Given the description of an element on the screen output the (x, y) to click on. 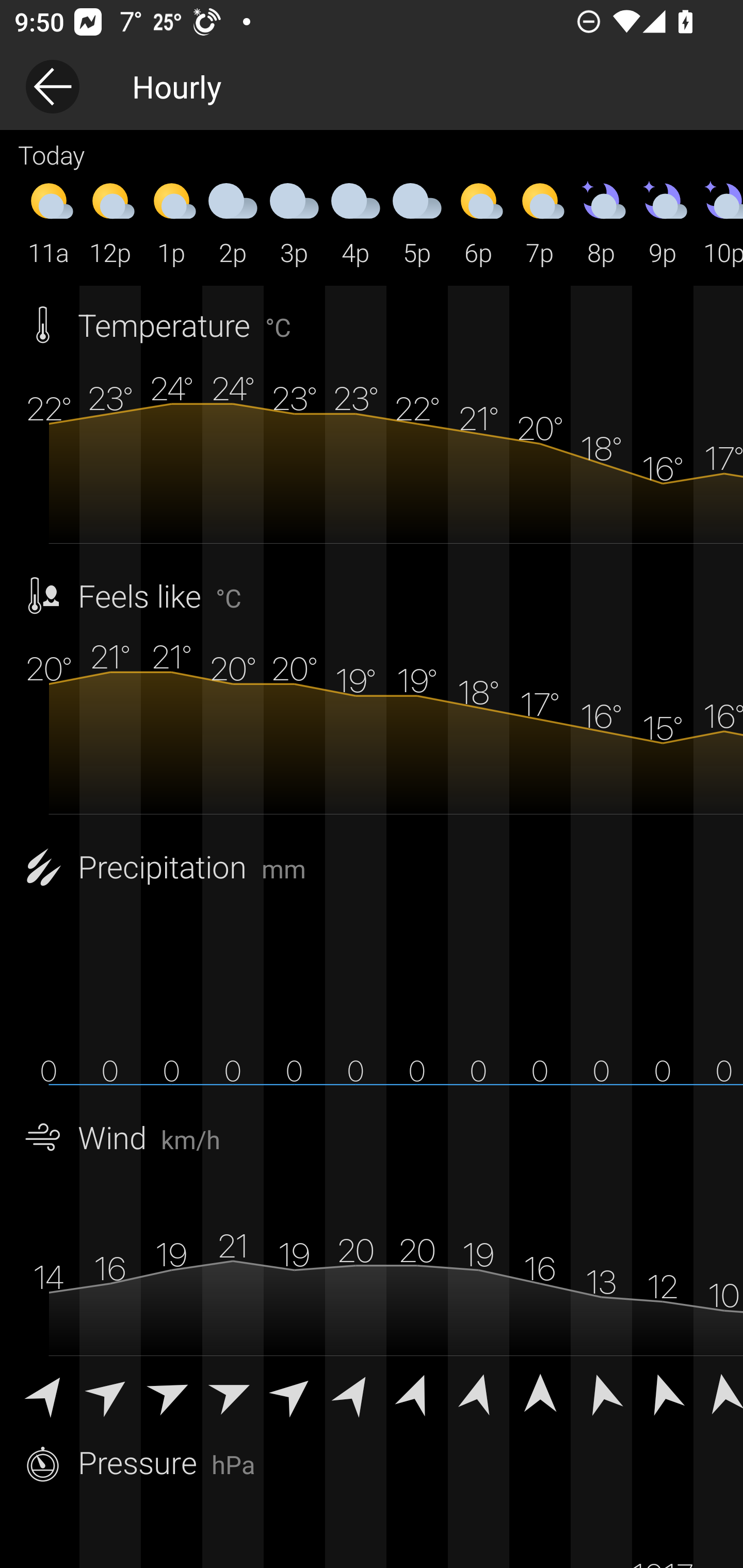
11a (48, 222)
12p (110, 222)
1p (171, 222)
2p (232, 222)
3p (294, 222)
4p (355, 222)
5p (417, 222)
6p (478, 222)
7p (539, 222)
8p (601, 222)
9p (662, 222)
10p (718, 222)
 (48, 1391)
 (110, 1391)
 (171, 1391)
 (232, 1391)
 (294, 1391)
 (355, 1391)
 (417, 1391)
 (478, 1391)
 (539, 1391)
 (601, 1391)
 (662, 1391)
 (718, 1391)
